Given the description of an element on the screen output the (x, y) to click on. 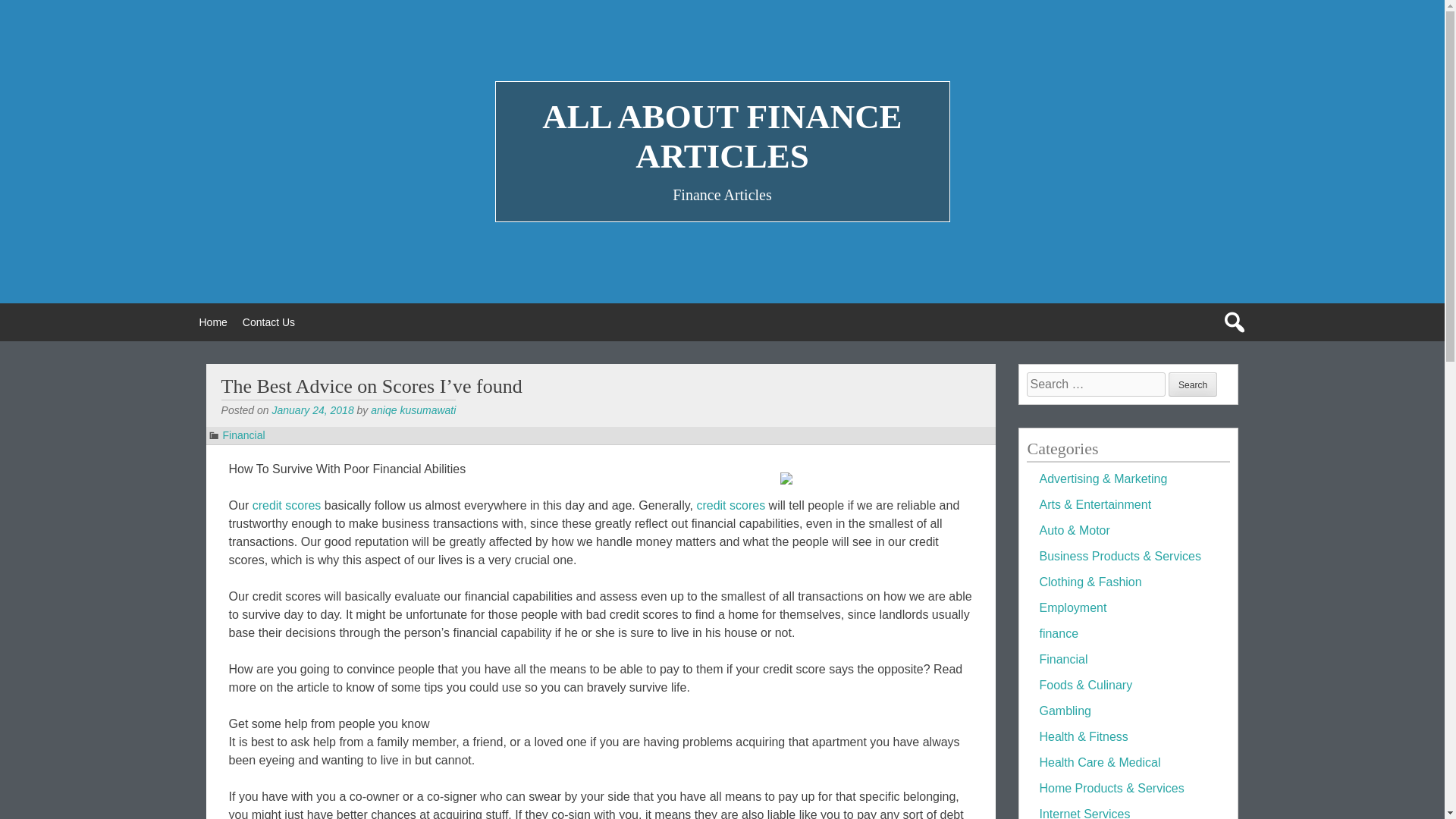
Search (1193, 384)
Employment (1072, 607)
Gambling (1064, 710)
Contact Us (268, 322)
finance (1058, 633)
Home (212, 322)
January 24, 2018 (311, 410)
Financial (1063, 658)
credit scores (730, 504)
credit scores (286, 504)
Search (1193, 384)
Search (1193, 384)
ALL ABOUT FINANCE ARTICLES (721, 136)
Financial (243, 435)
aniqe kusumawati (413, 410)
